Given the description of an element on the screen output the (x, y) to click on. 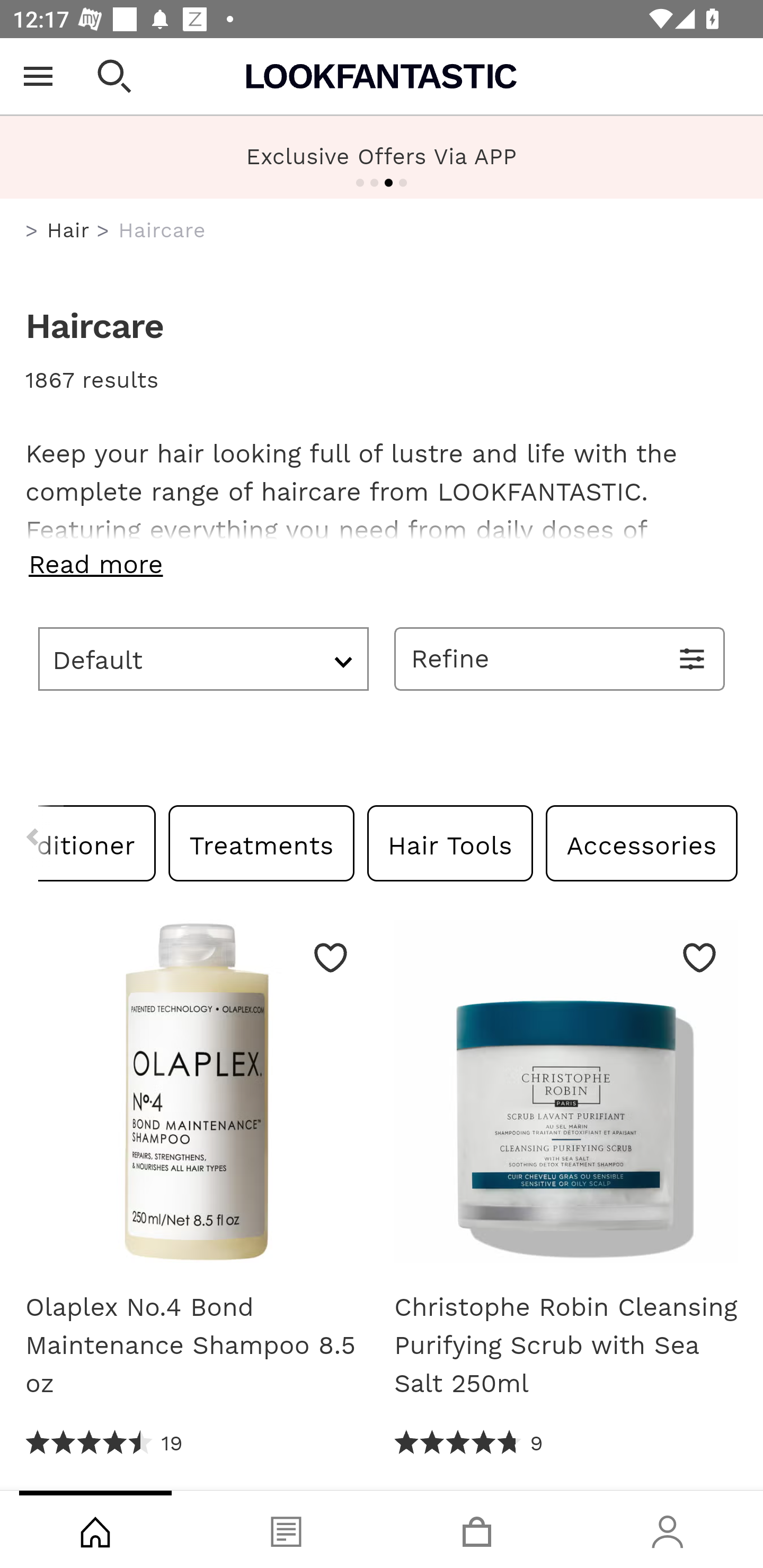
Open Menu (38, 75)
Open search (114, 75)
Lookfantastic USA (381, 75)
us.lookfantastic (32, 230)
Hair (67, 230)
Read more (381, 564)
Default (203, 658)
Refine (559, 658)
Shop Treatments (261, 842)
Shop Hair Tools (449, 842)
Shop Accessories (641, 842)
Olaplex No.4 Bond Maintenance Shampoo 8.5 oz (196, 1097)
Save to Wishlist (330, 957)
Save to Wishlist (698, 957)
Olaplex No.4 Bond Maintenance Shampoo 8.5 oz (196, 1344)
4.53 Stars 19 Reviews (104, 1442)
4.78 Stars 9 Reviews (468, 1442)
Shop, tab, 1 of 4 (95, 1529)
Blog, tab, 2 of 4 (285, 1529)
Basket, tab, 3 of 4 (476, 1529)
Account, tab, 4 of 4 (667, 1529)
